Given the description of an element on the screen output the (x, y) to click on. 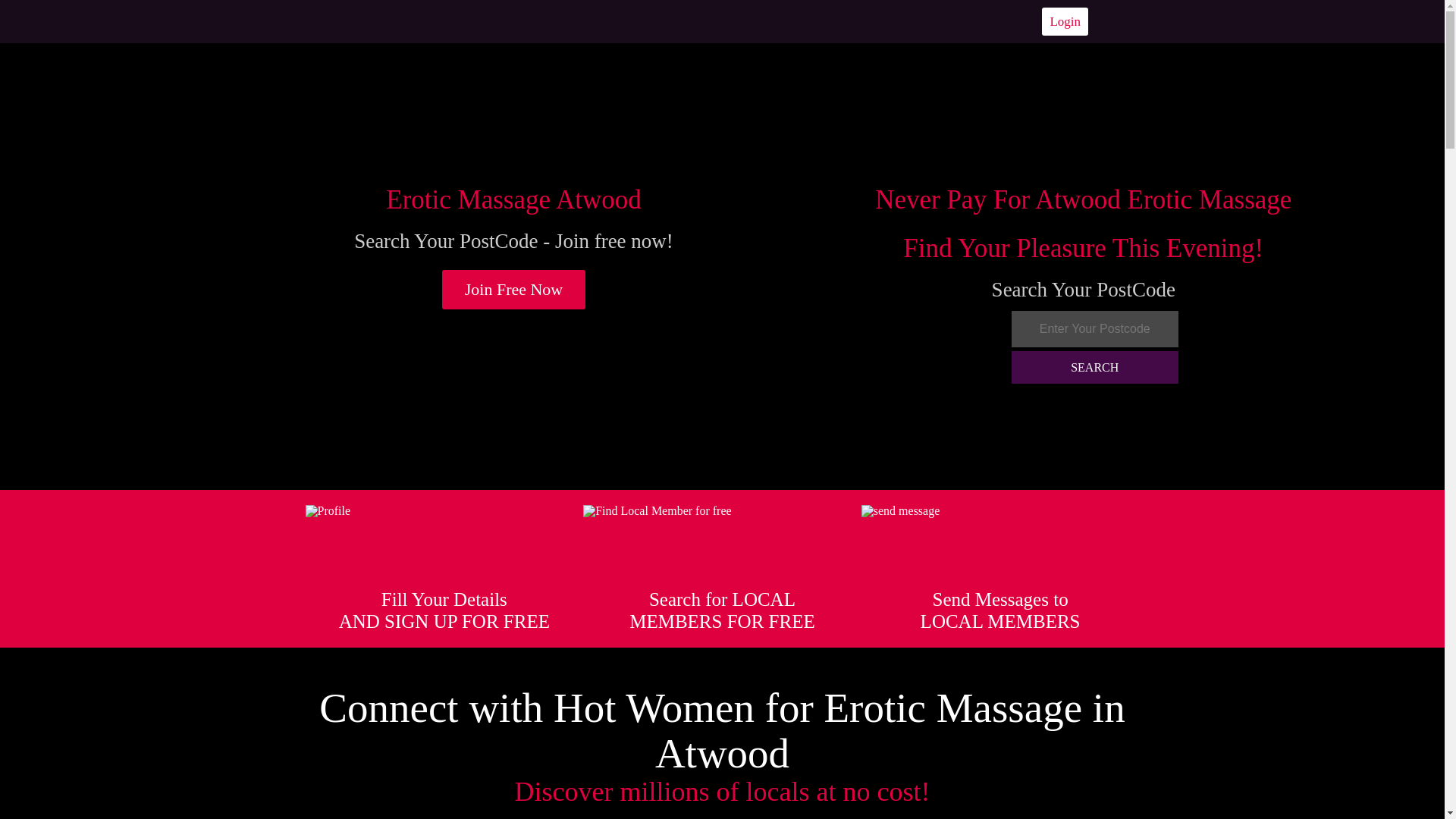
Join (514, 289)
Login (1064, 21)
SEARCH (1094, 367)
Login (1064, 21)
Join Free Now (514, 289)
